Given the description of an element on the screen output the (x, y) to click on. 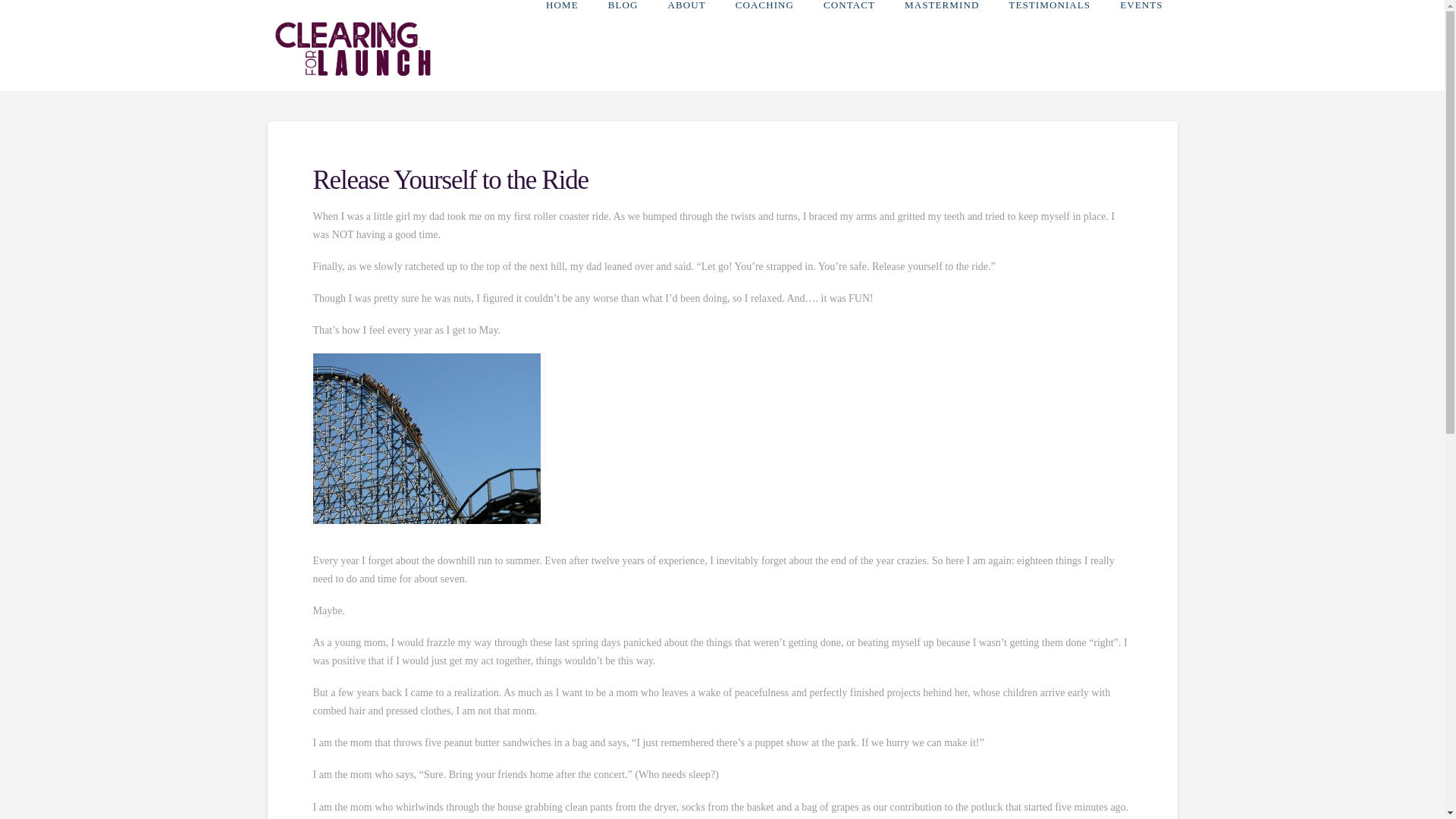
TESTIMONIALS (1048, 33)
CONTACT (848, 33)
EVENTS (1140, 33)
COACHING (764, 33)
MASTERMIND (940, 33)
HOME (561, 33)
ABOUT (685, 33)
